Given the description of an element on the screen output the (x, y) to click on. 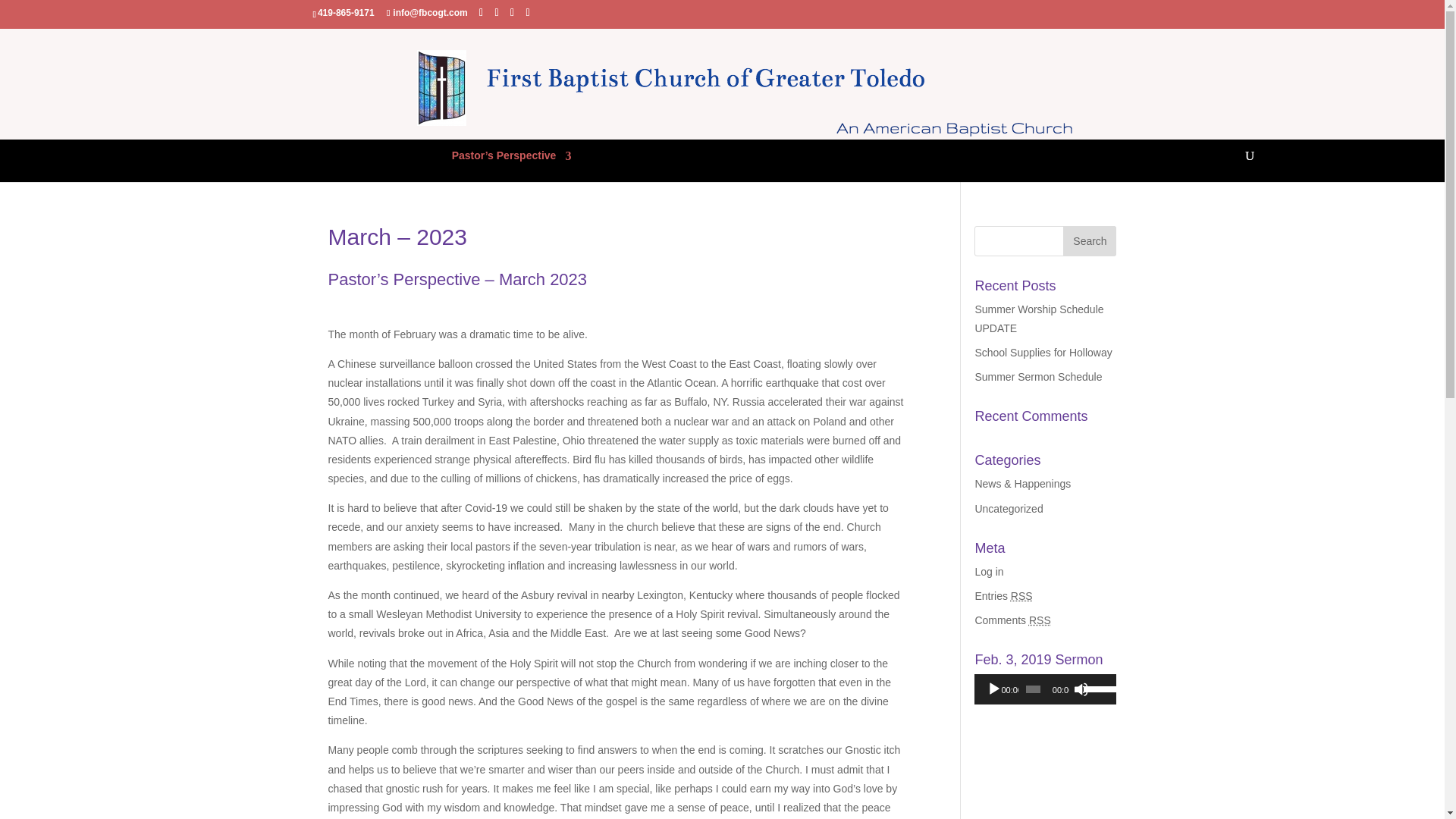
Really Simple Syndication (1021, 595)
Daycare (208, 160)
Facebook LIVE (350, 160)
Mute (1081, 688)
Really Simple Syndication (1040, 620)
Search (1089, 241)
Play (994, 688)
Give (419, 160)
Home (271, 160)
